Given the description of an element on the screen output the (x, y) to click on. 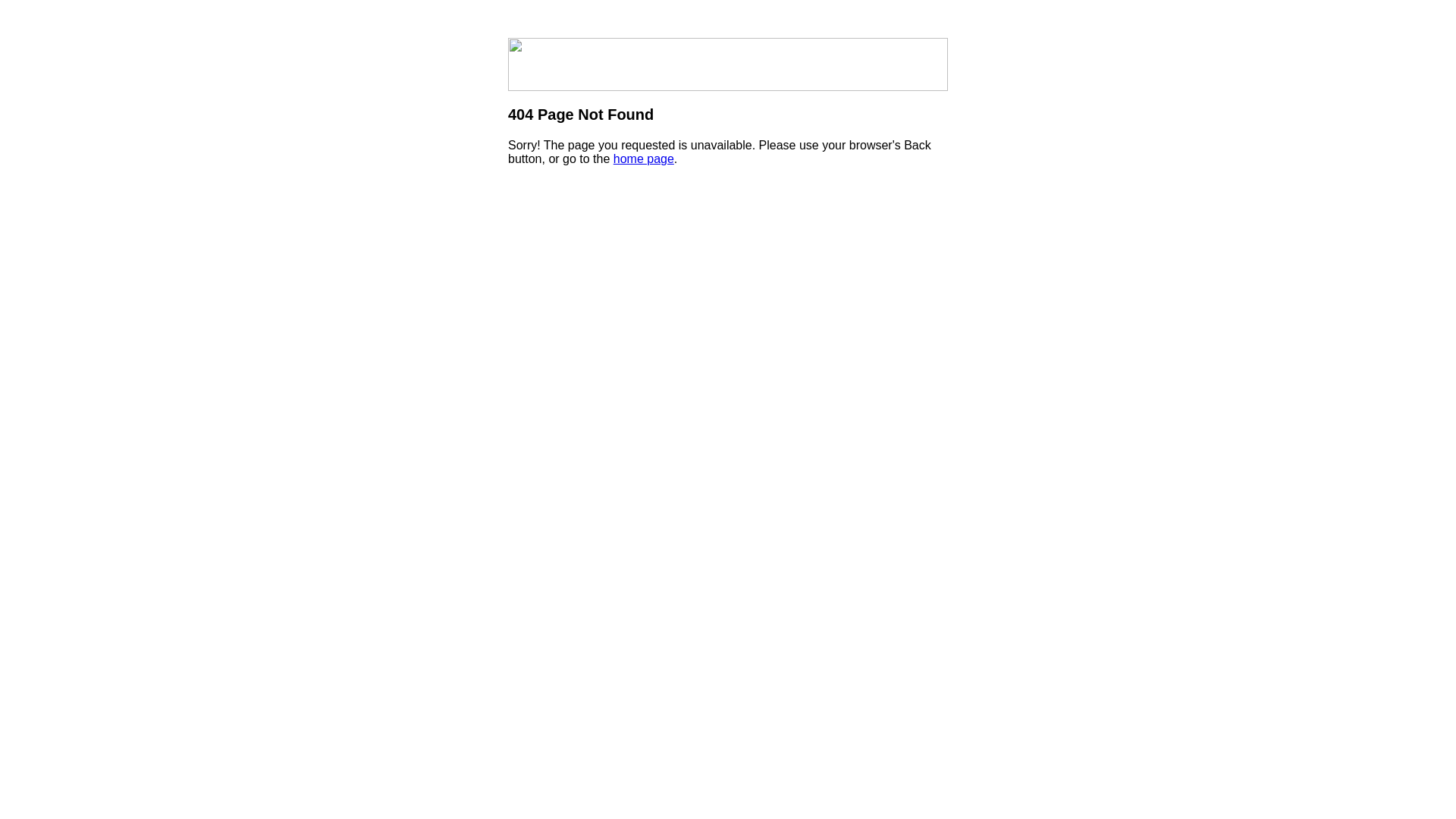
home page Element type: text (643, 158)
